Given the description of an element on the screen output the (x, y) to click on. 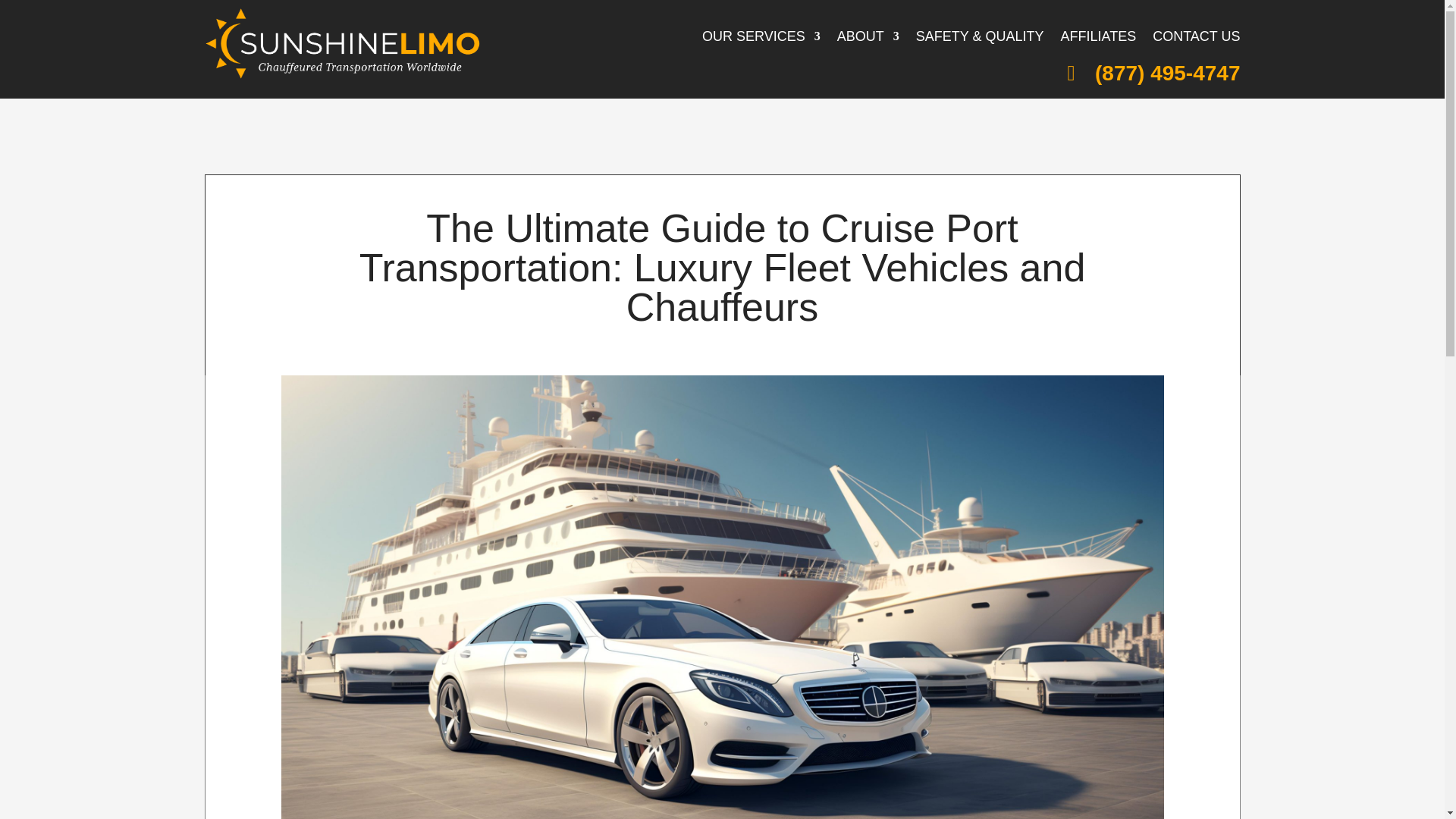
OUR SERVICES (761, 38)
SL-Logo-15 (342, 43)
